Given the description of an element on the screen output the (x, y) to click on. 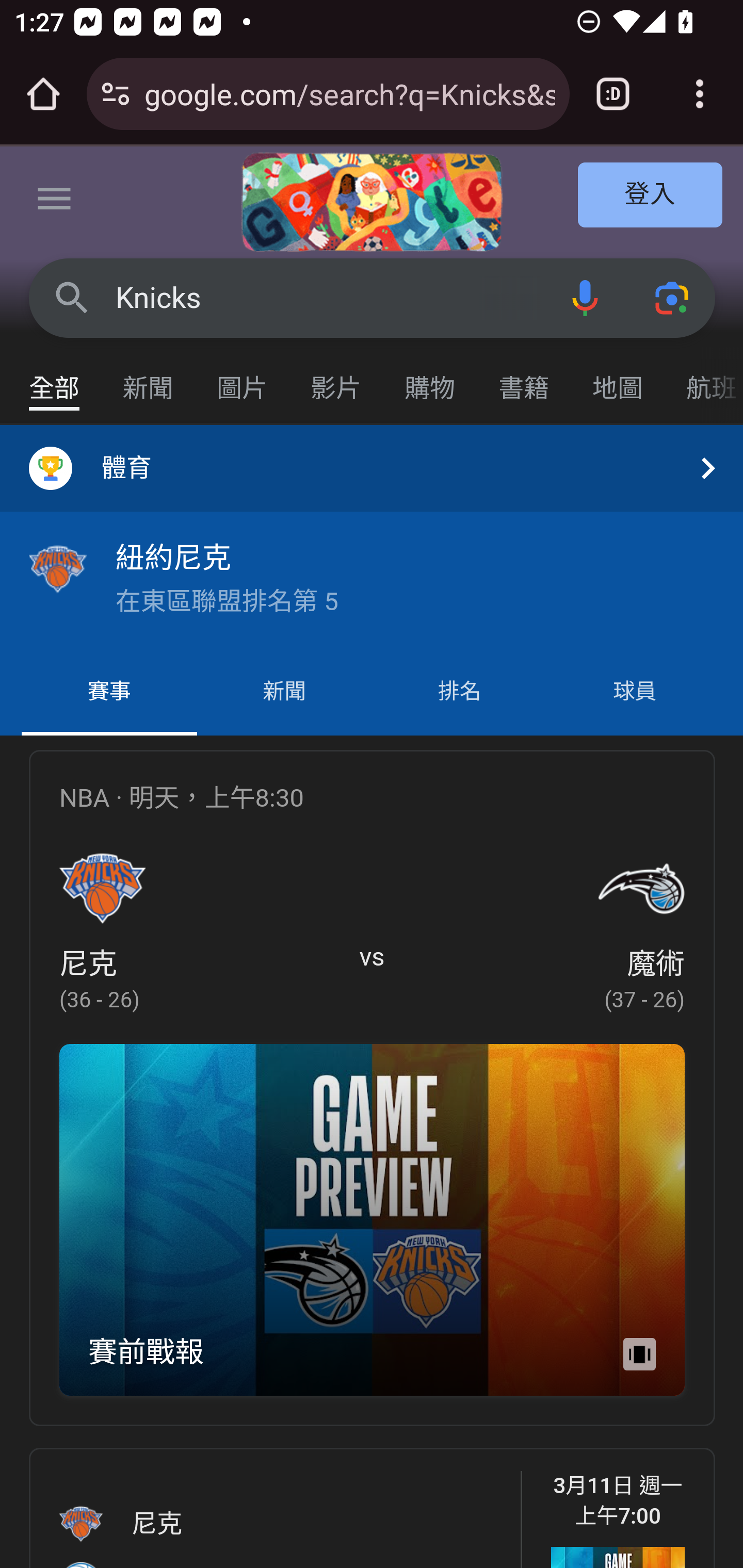
Open the home page (43, 93)
Connection is secure (115, 93)
Switch or close tabs (612, 93)
Customize and control Google Chrome (699, 93)
2024 年國際婦女節 (371, 202)
主選單 (54, 202)
登入 (650, 195)
Google 搜尋 (71, 296)
使用相機或相片搜尋 (672, 296)
Knicks (328, 297)
新聞 (148, 378)
圖片 (242, 378)
影片 (336, 378)
購物 (430, 378)
書籍 (524, 378)
地圖 (618, 378)
航班 (703, 378)
體育 紐約尼克 在東區聯盟排名第 5 體育 紐約尼克 在東區聯盟排名第 5 (371, 536)
體育 (371, 467)
賽事 (109, 691)
新聞 (283, 691)
排名 (460, 691)
球員 (634, 691)
